Given the description of an element on the screen output the (x, y) to click on. 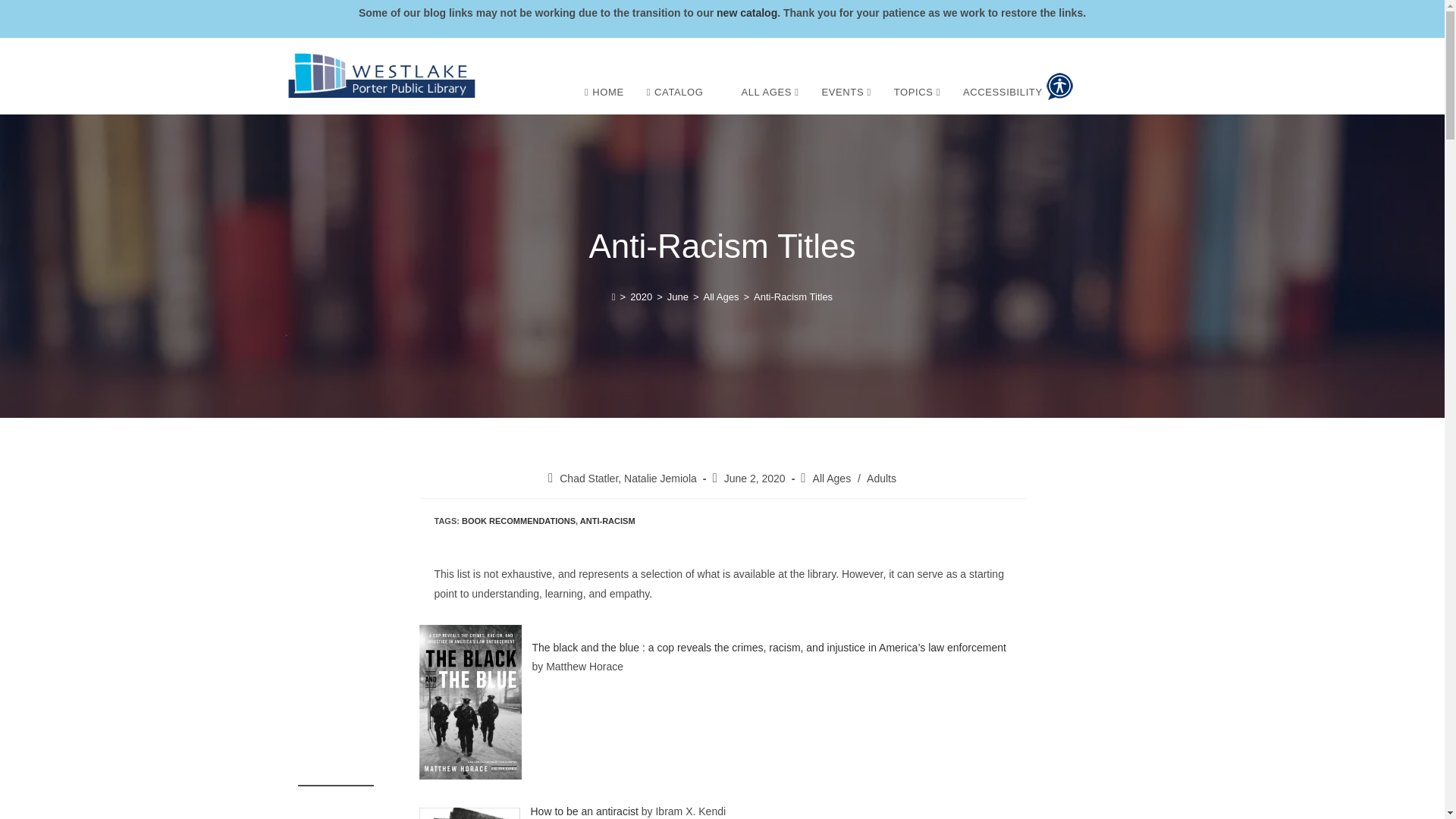
Posts by Chad Statler (588, 478)
new catalog (746, 12)
ALL AGES (769, 92)
HOME (603, 92)
ACCESSIBILITY  (1018, 86)
CATALOG (674, 92)
TOPICS (917, 92)
EVENTS (846, 92)
Posts by Natalie Jemiola (660, 478)
Go to WPPL's main website (380, 75)
